Given the description of an element on the screen output the (x, y) to click on. 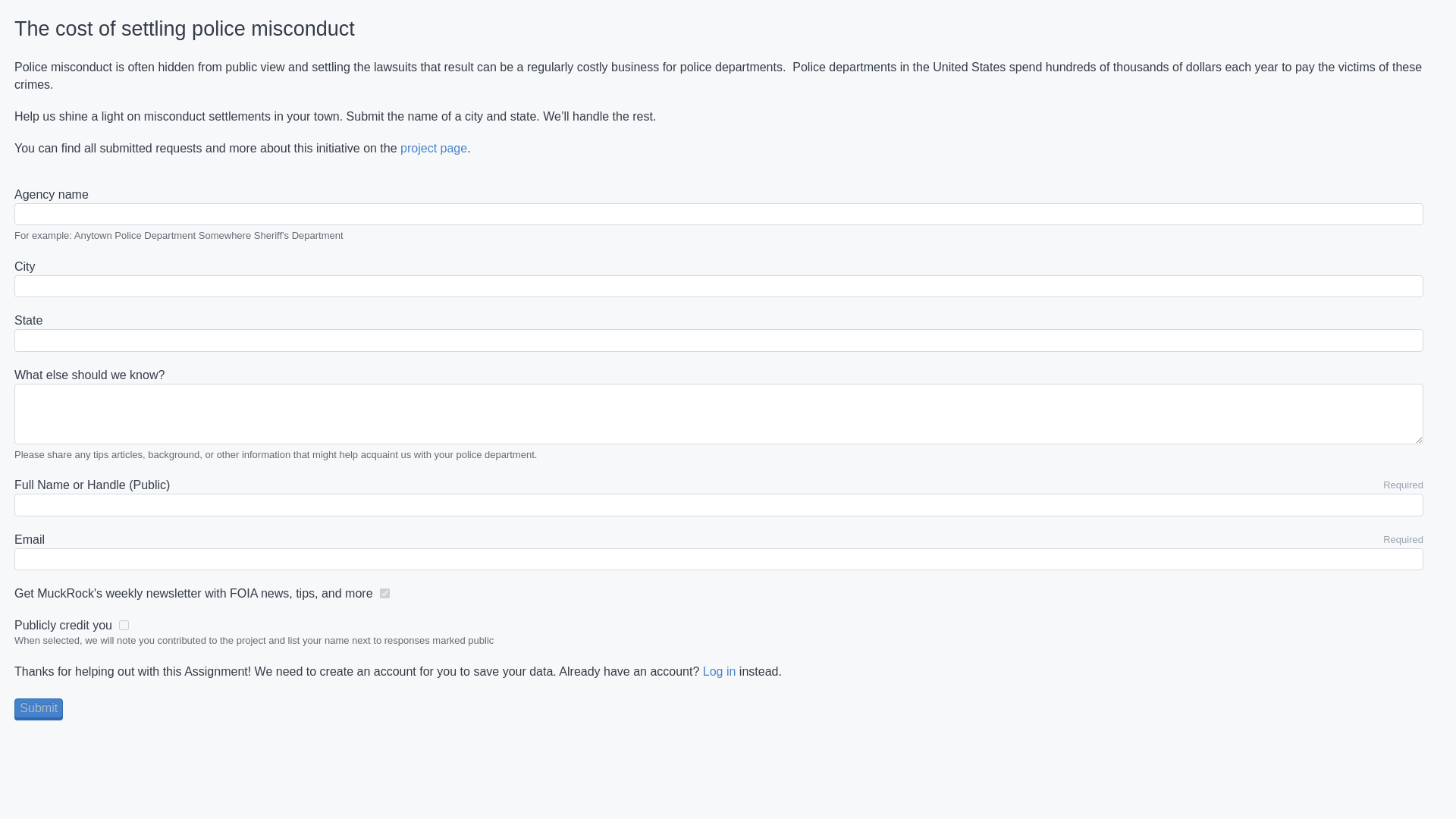
on (385, 593)
Log in (719, 671)
Submit (38, 708)
project page (433, 147)
Submit (38, 708)
on (124, 624)
